Given the description of an element on the screen output the (x, y) to click on. 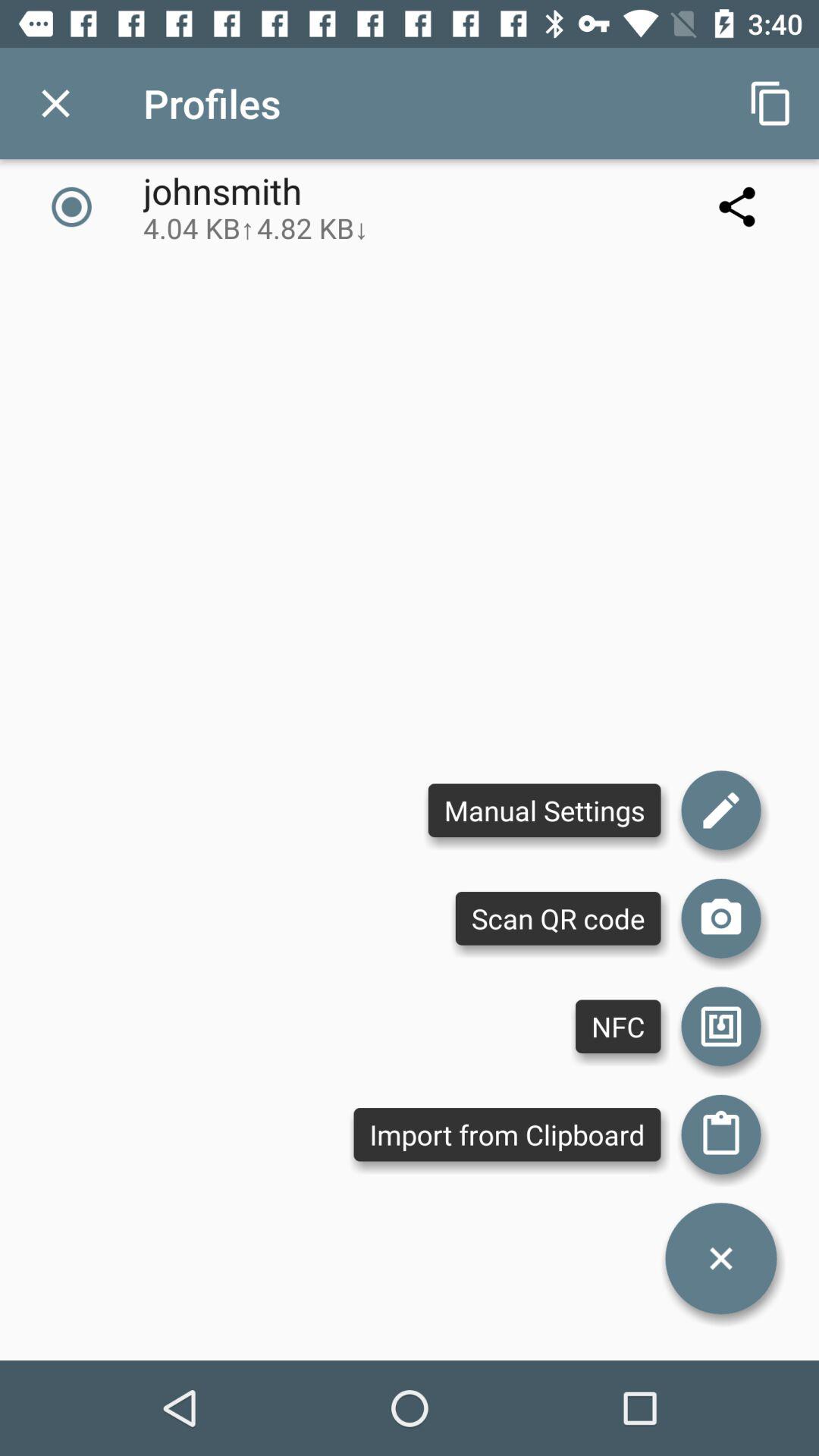
edit manual settings (721, 810)
